Given the description of an element on the screen output the (x, y) to click on. 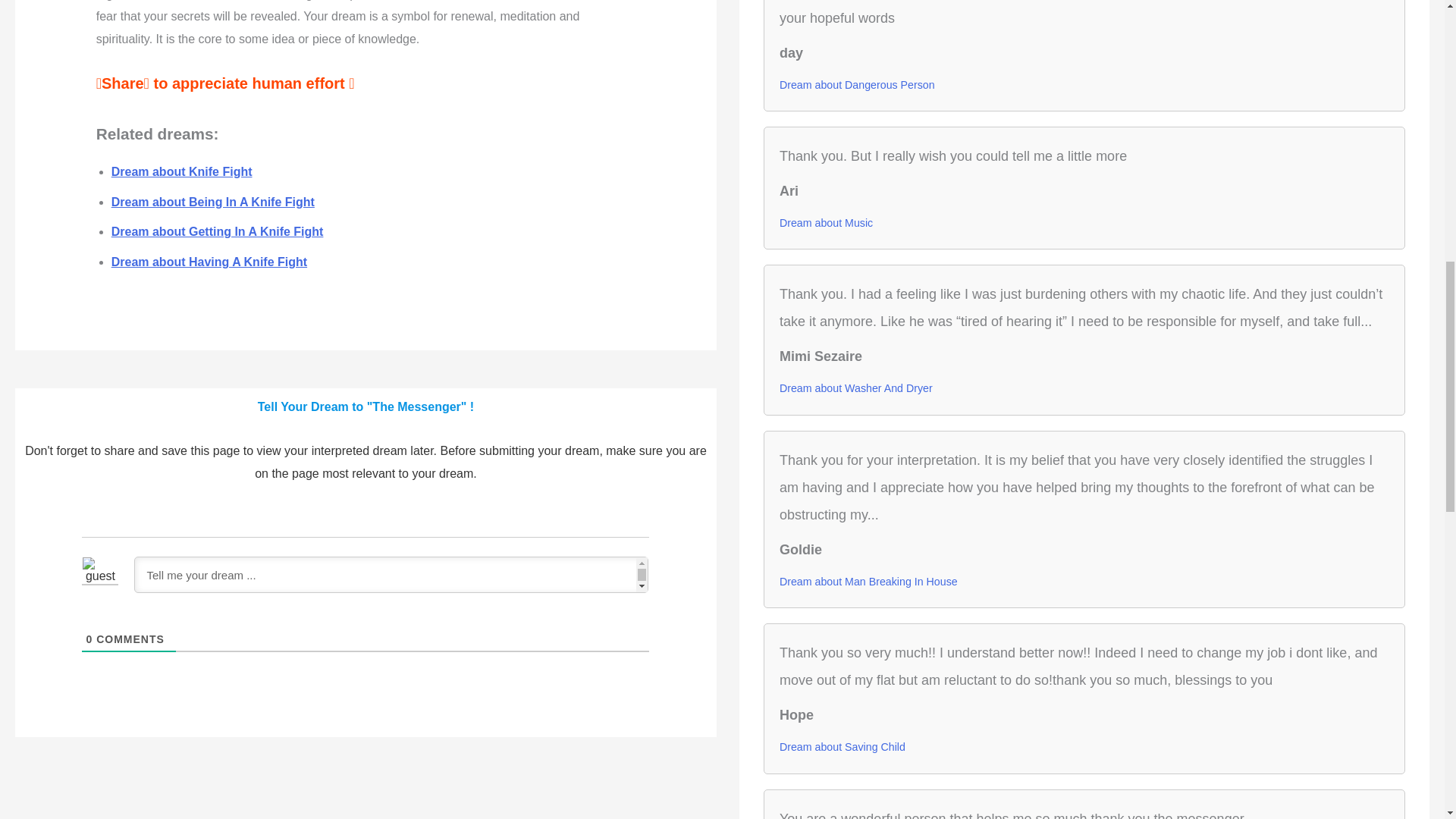
Dream about Having A Knife Fight (209, 261)
Dream about Getting In A Knife Fight (217, 231)
Dream about Knife Fight (181, 171)
Dream about Being In A Knife Fight (213, 201)
